Given the description of an element on the screen output the (x, y) to click on. 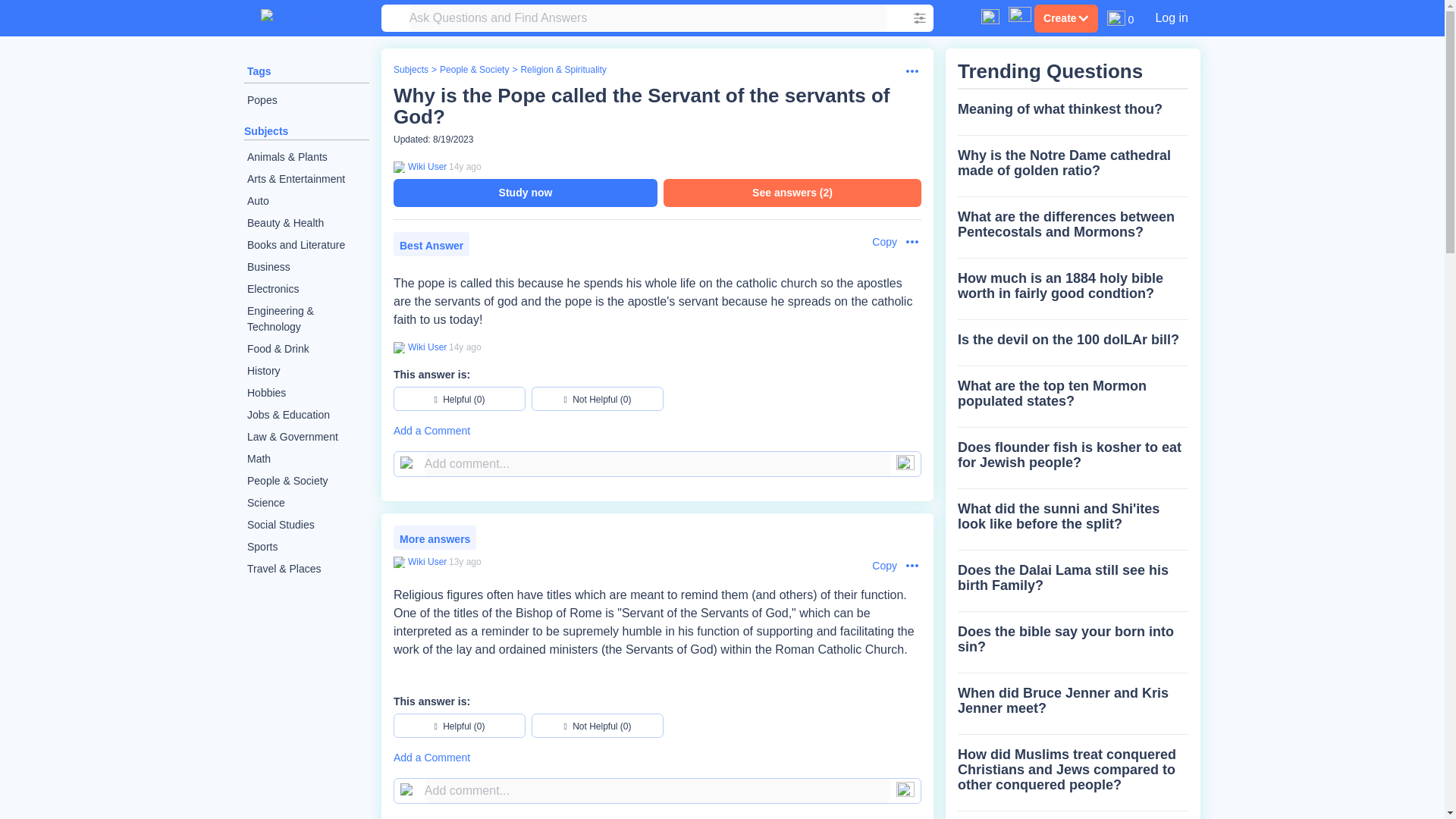
Books and Literature (306, 245)
Social Studies (306, 525)
Sports (306, 546)
Wiki User (425, 166)
Popes (306, 100)
2010-03-07 13:46:03 (464, 347)
History (306, 371)
Wiki User (425, 346)
Copy (876, 242)
Tags (258, 70)
